Given the description of an element on the screen output the (x, y) to click on. 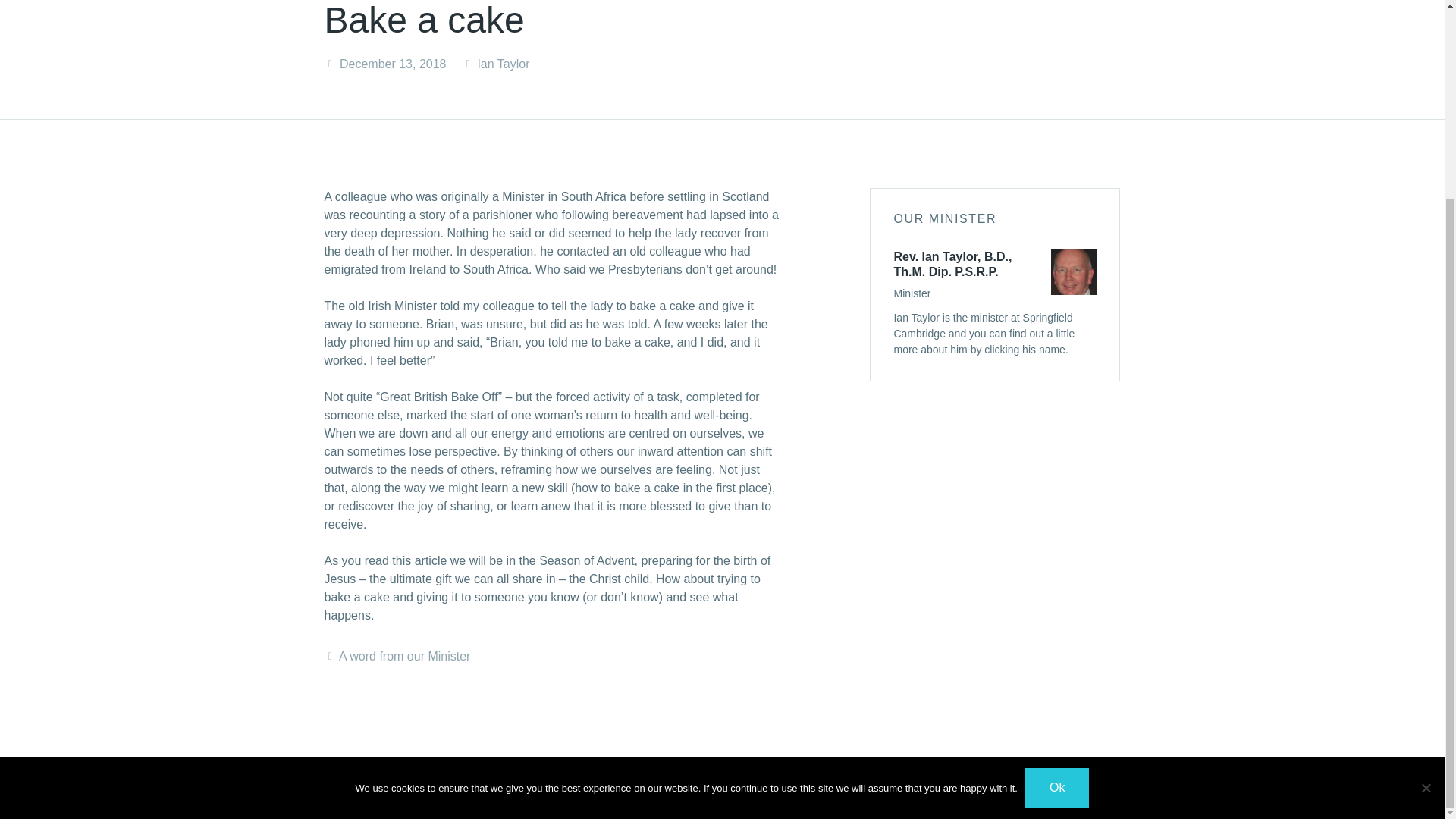
December 13, 2018 (392, 63)
Ok (1057, 534)
Rev. Ian Taylor, B.D., Th.M. Dip. P.S.R.P. (952, 264)
A word from our Minister (404, 656)
No (1425, 534)
Ian Taylor (503, 63)
